Given the description of an element on the screen output the (x, y) to click on. 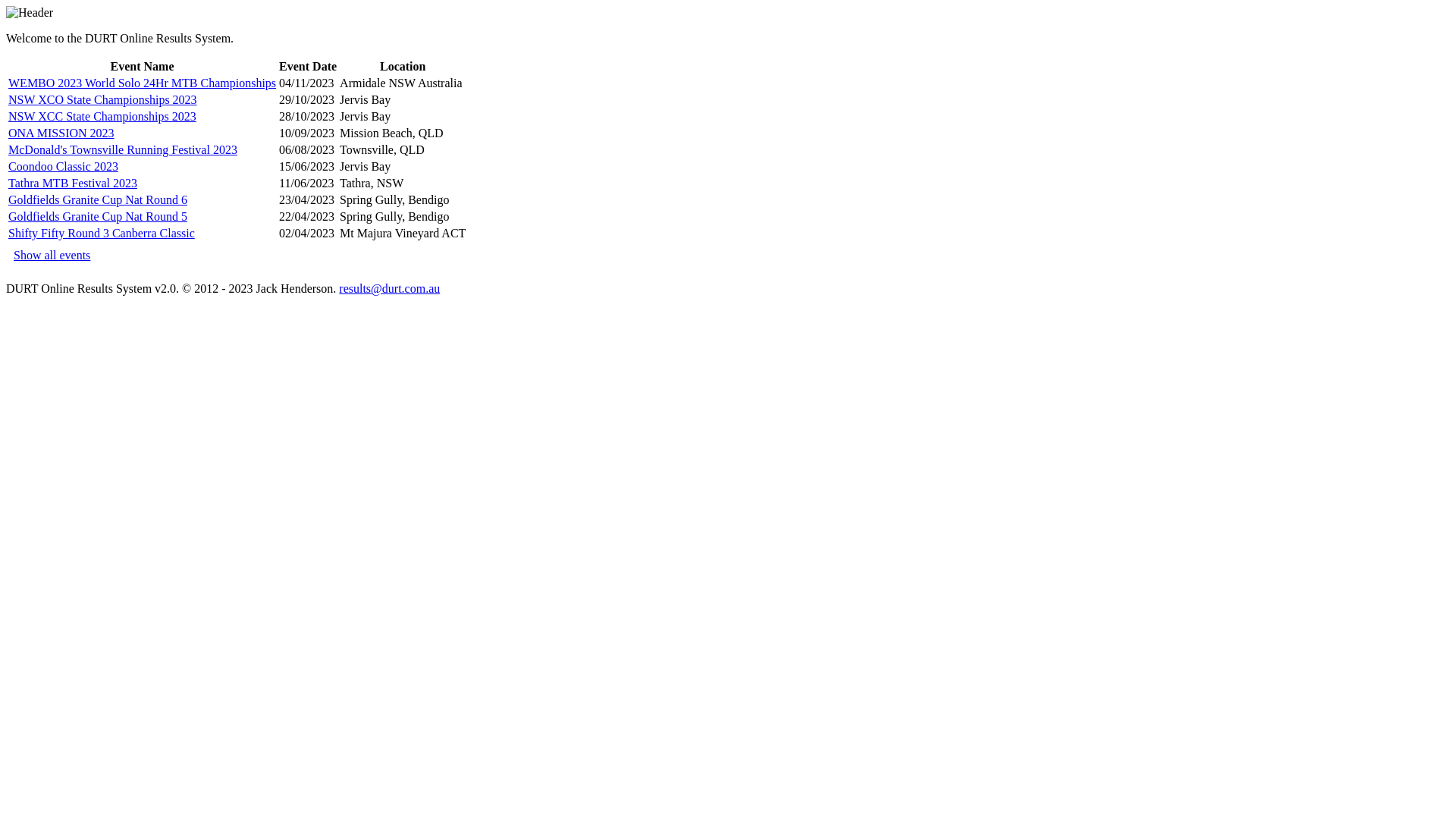
WEMBO 2023 World Solo 24Hr MTB Championships Element type: text (142, 82)
NSW XCO State Championships 2023 Element type: text (102, 99)
NSW XCC State Championships 2023 Element type: text (102, 115)
results@durt.com.au Element type: text (388, 288)
Tathra MTB Festival 2023 Element type: text (72, 182)
ONA MISSION 2023 Element type: text (61, 132)
Coondoo Classic 2023 Element type: text (63, 166)
McDonald's Townsville Running Festival 2023 Element type: text (122, 149)
Goldfields Granite Cup Nat Round 6 Element type: text (97, 199)
Goldfields Granite Cup Nat Round 5 Element type: text (97, 216)
Show all events Element type: text (51, 254)
Shifty Fifty Round 3 Canberra Classic Element type: text (101, 232)
